Given the description of an element on the screen output the (x, y) to click on. 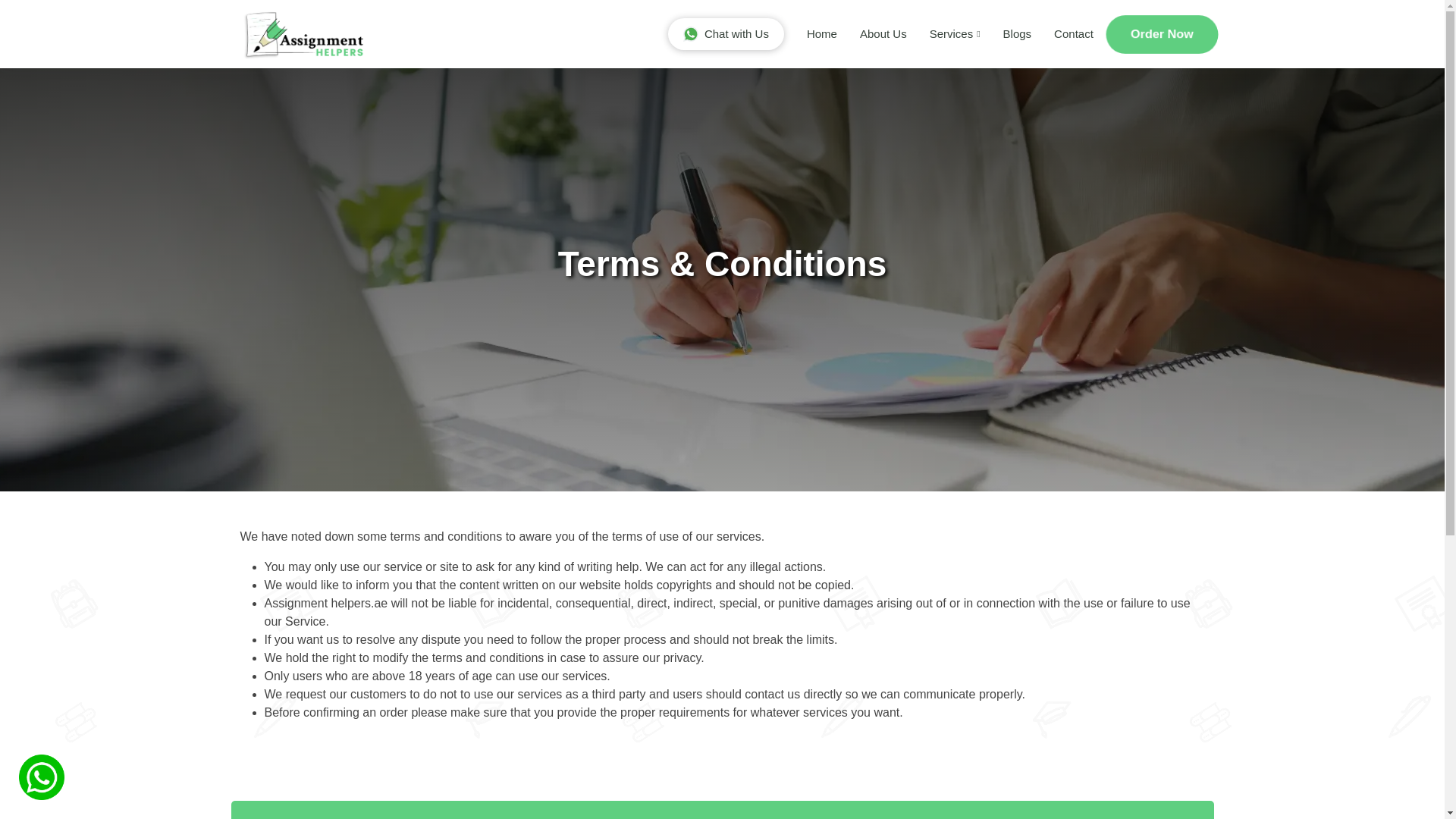
Show Chat (726, 34)
Home (810, 34)
About Us (872, 34)
  Chat with Us (726, 34)
Services (943, 34)
